Given the description of an element on the screen output the (x, y) to click on. 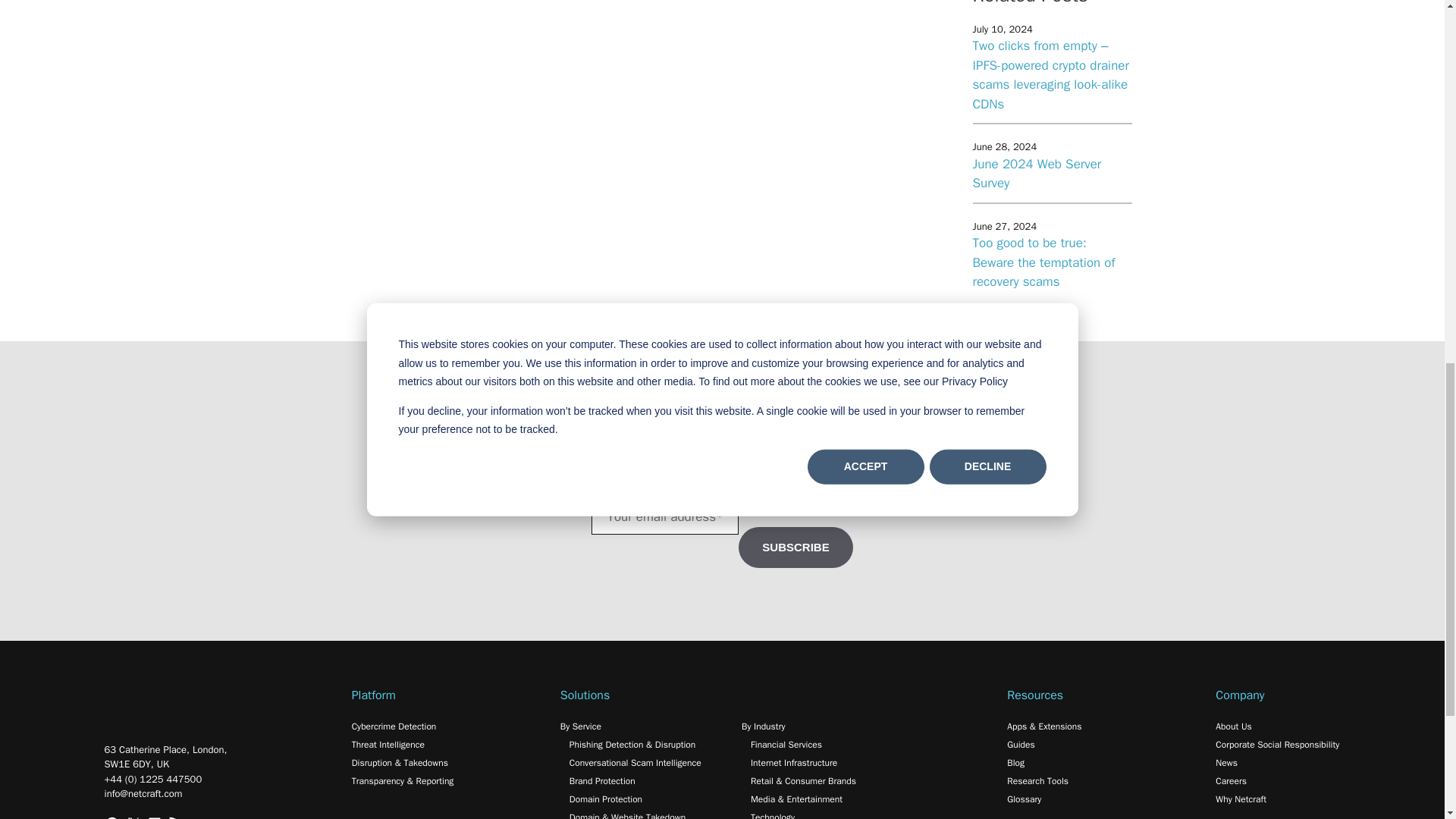
SUBSCRIBE (794, 547)
